Given the description of an element on the screen output the (x, y) to click on. 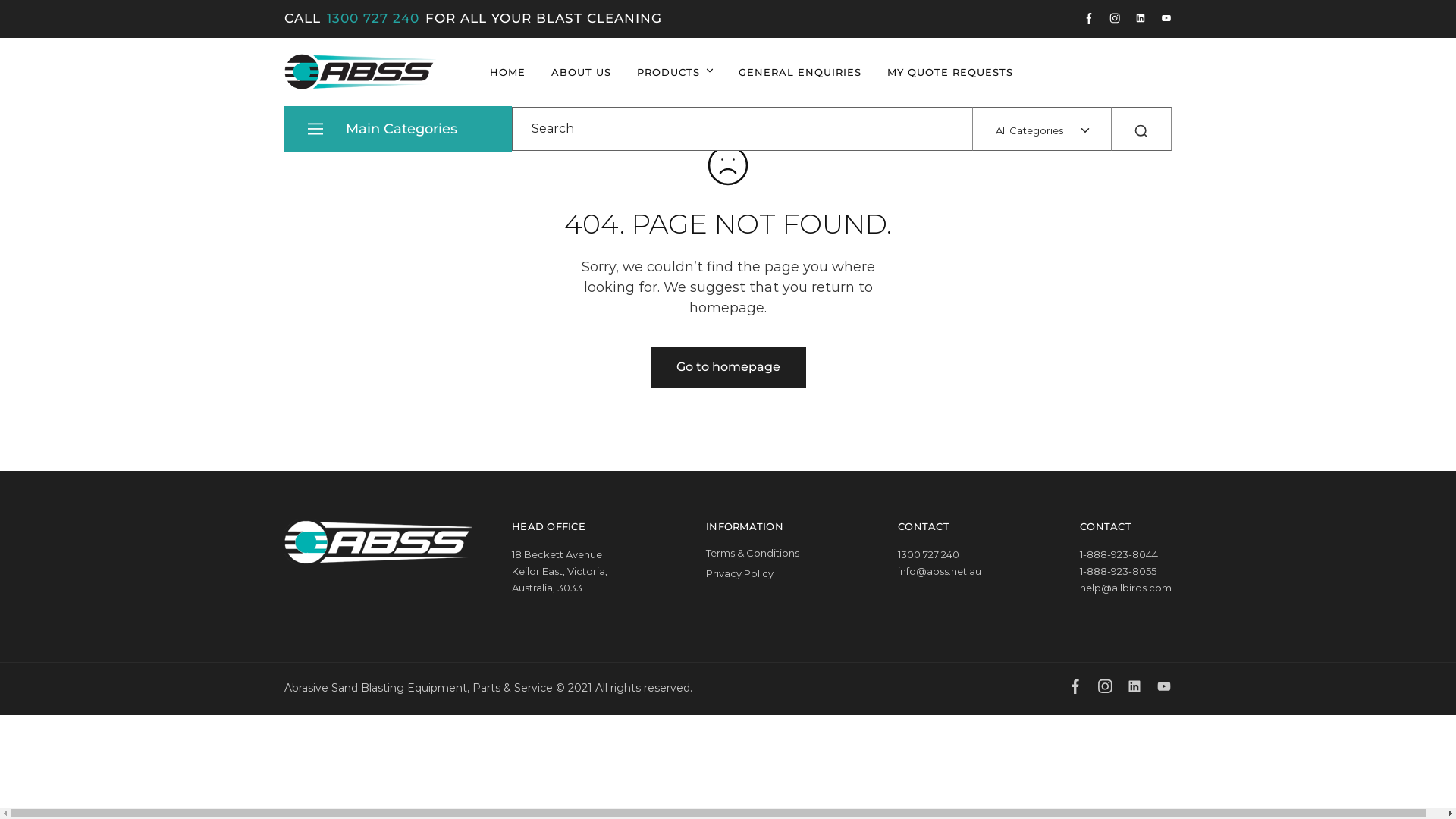
Abrasive Blasting Service & Supplies Element type: text (304, 95)
1300 727 240 Element type: text (372, 18)
GENERAL ENQUIRIES Element type: text (799, 72)
Terms & Conditions Element type: text (752, 552)
PRODUCTS Element type: text (674, 72)
ABOUT US Element type: text (581, 72)
MY QUOTE REQUESTS Element type: text (949, 72)
Go to homepage Element type: text (728, 366)
Privacy Policy Element type: text (739, 573)
HOME Element type: text (507, 72)
info@abss.net.au Element type: text (939, 570)
